Given the description of an element on the screen output the (x, y) to click on. 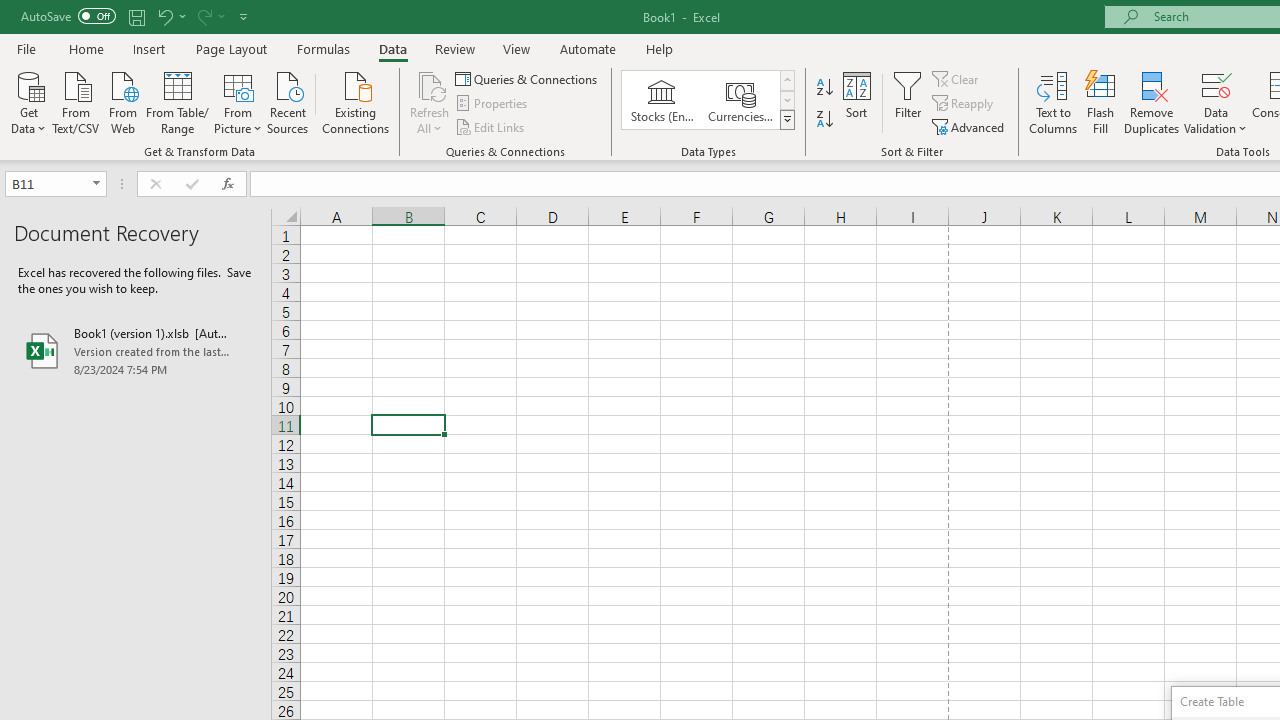
AutomationID: ConvertToLinkedEntity (708, 99)
Clear (957, 78)
Properties (492, 103)
From Picture (238, 101)
Remove Duplicates (1151, 102)
Flash Fill (1101, 102)
Refresh All (429, 102)
